Given the description of an element on the screen output the (x, y) to click on. 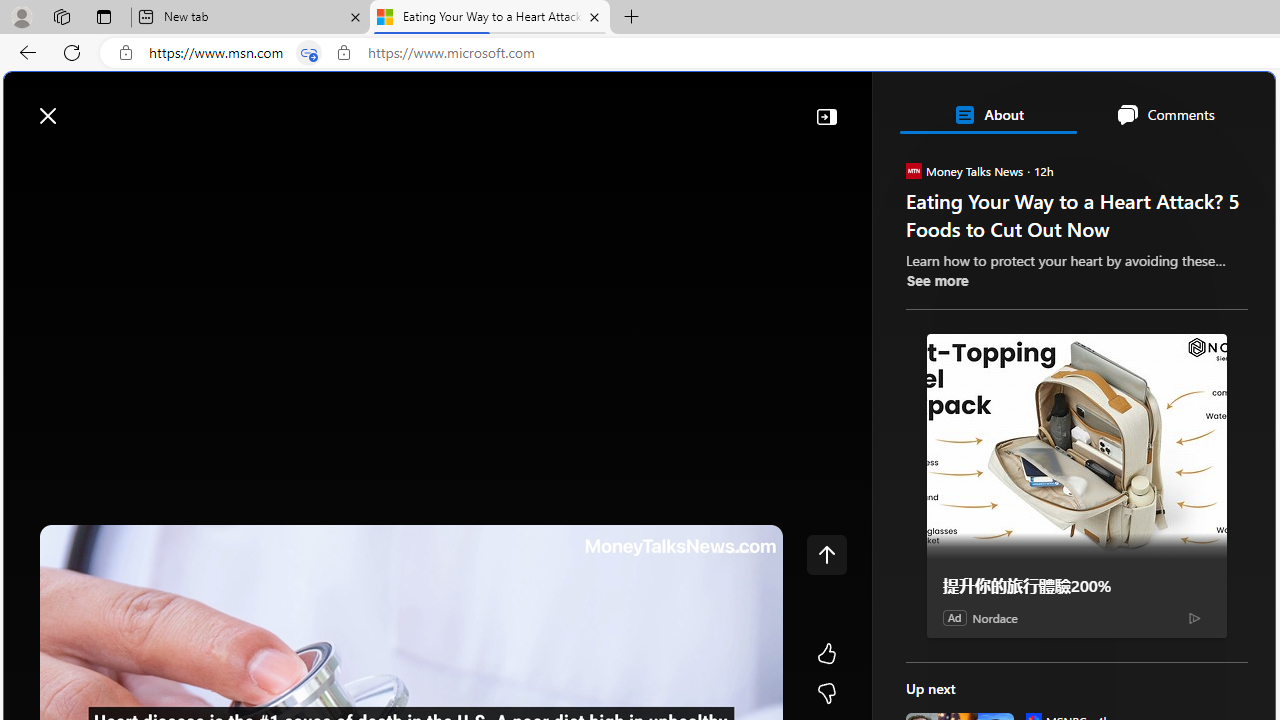
Collapse (826, 115)
Personalized for You (1084, 386)
Comments (1165, 114)
Class: button-glyph (29, 162)
Personalize (1195, 162)
